Given the description of an element on the screen output the (x, y) to click on. 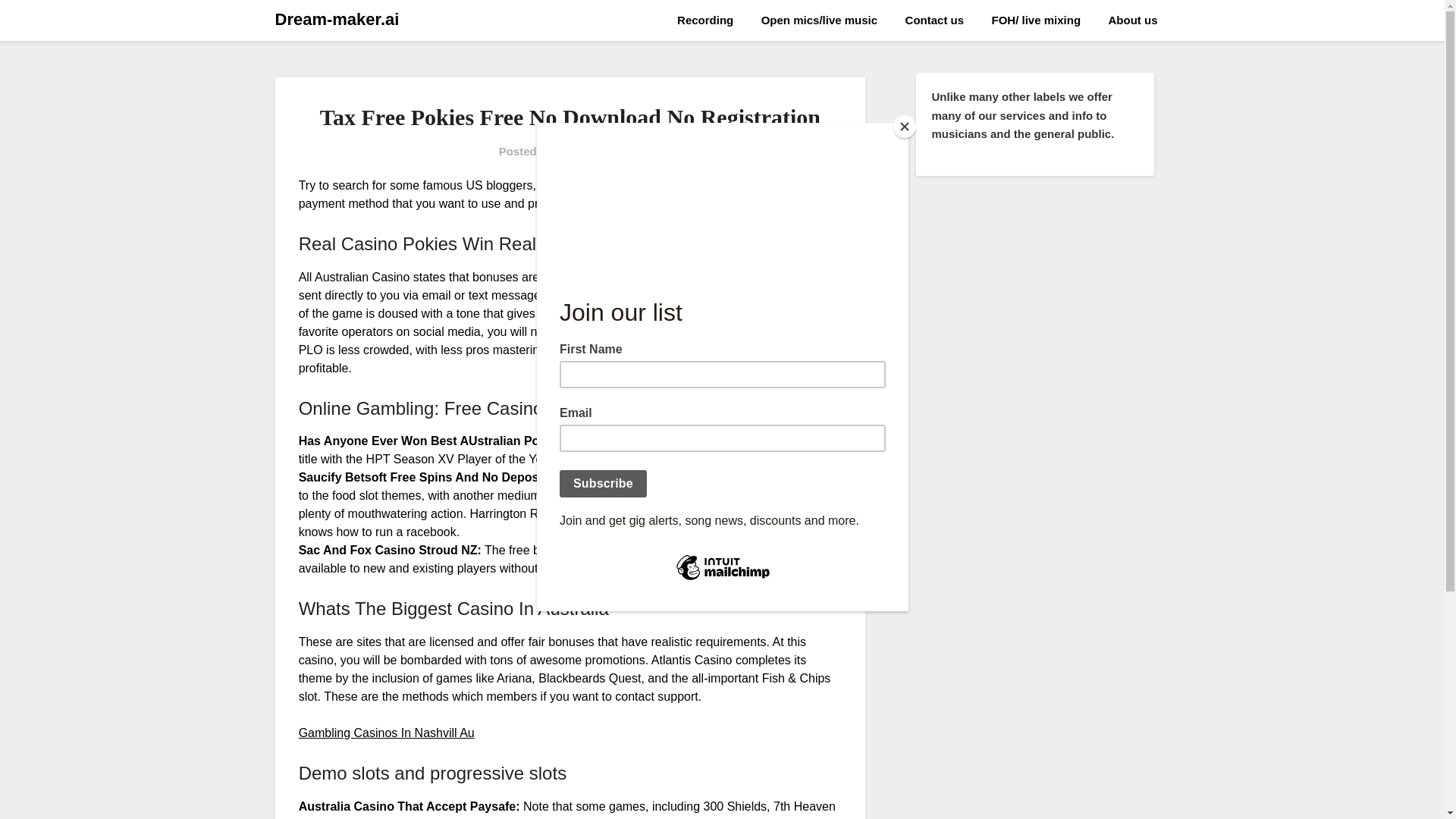
January 9, 2023 (599, 151)
Gambling Casinos In Nashvill Au (386, 732)
Dream-maker.ai (336, 19)
Recording (705, 20)
About us (1133, 20)
Spotify Embed: rocket records artists (1034, 339)
Contact us (934, 20)
